Given the description of an element on the screen output the (x, y) to click on. 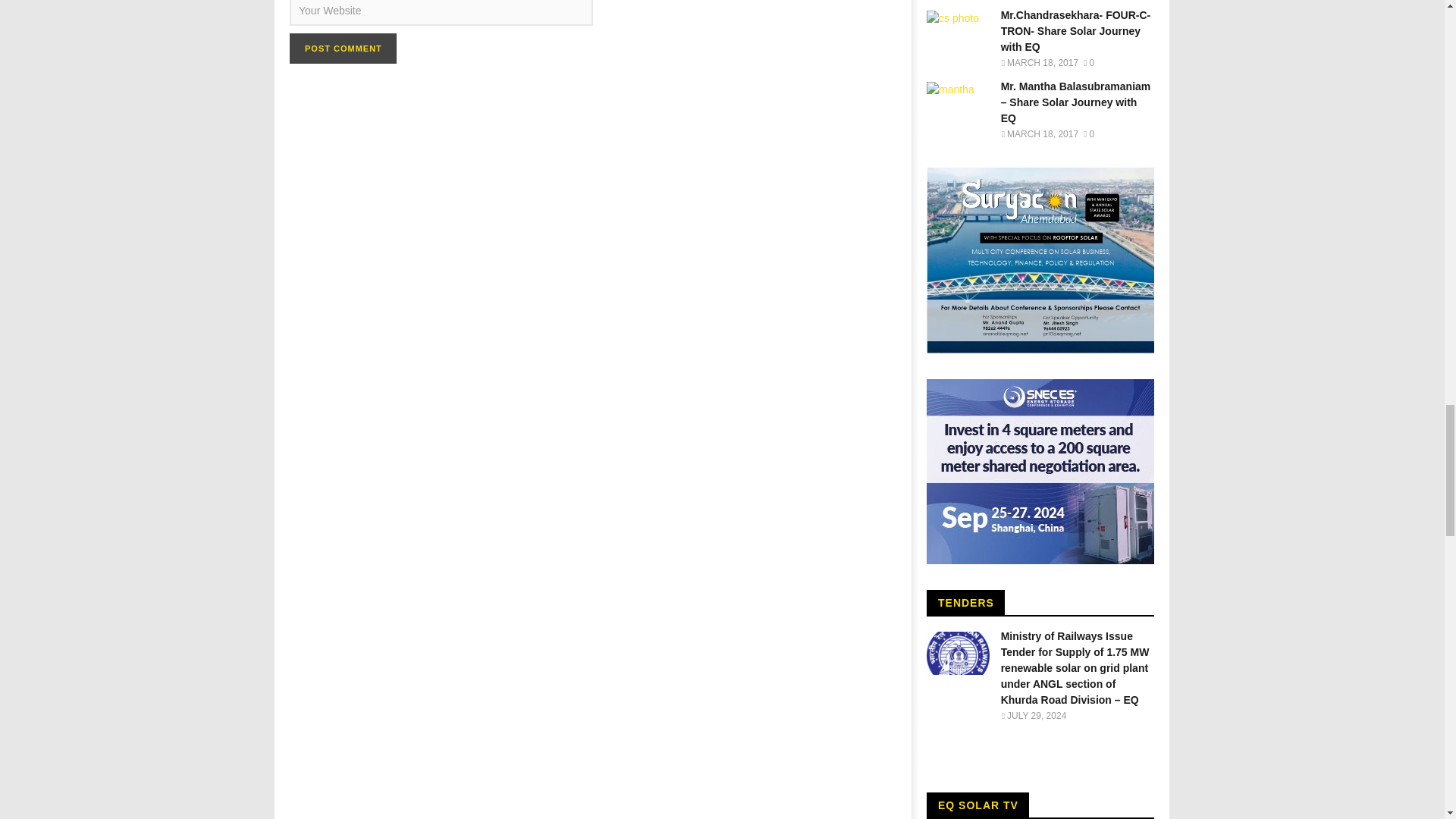
Post Comment (342, 48)
